Given the description of an element on the screen output the (x, y) to click on. 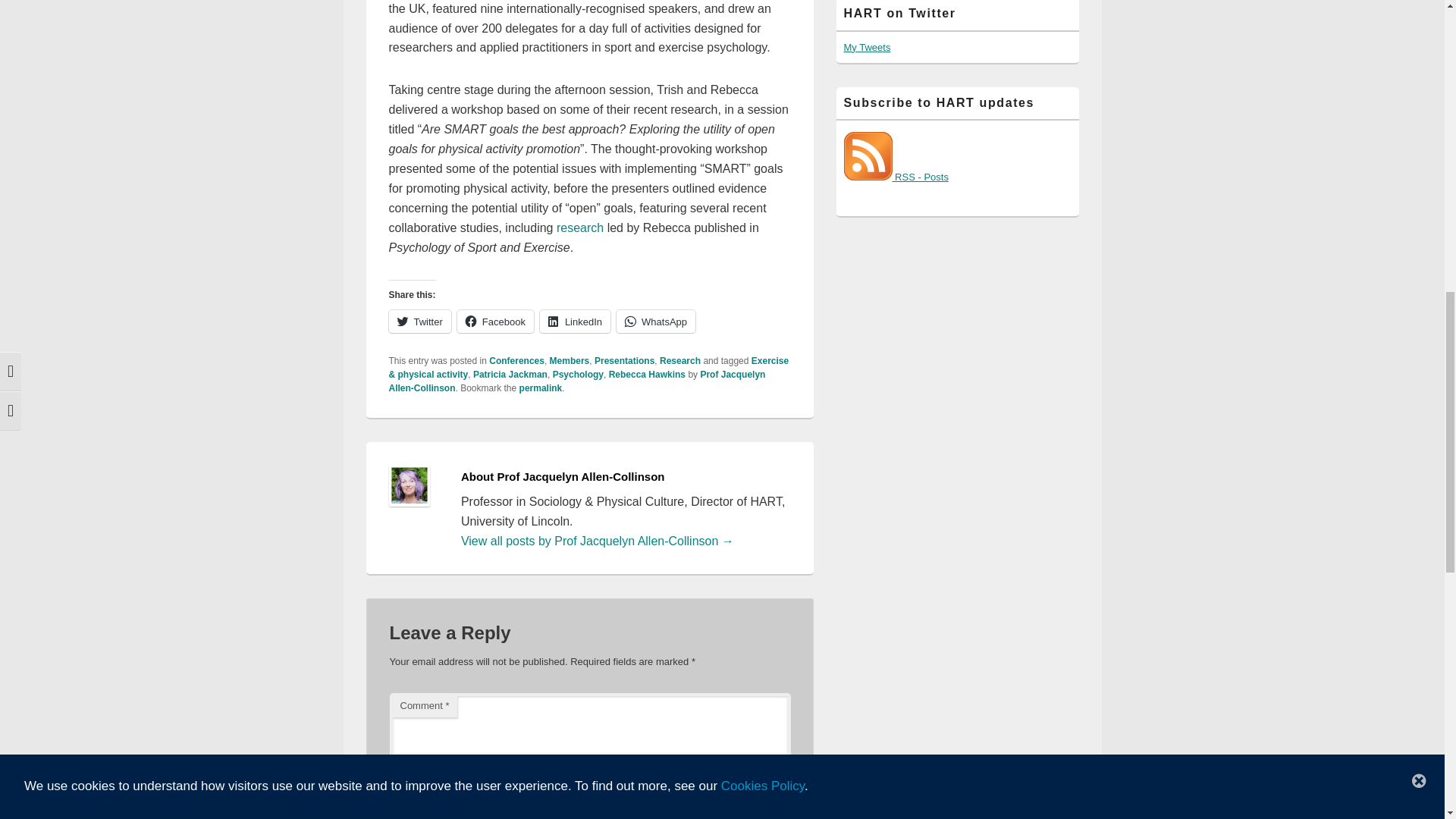
Rebecca Hawkins (646, 374)
research (580, 227)
Patricia Jackman (510, 374)
Facebook (495, 321)
Research (679, 360)
Conferences (516, 360)
Click to share on Facebook (495, 321)
Click to share on WhatsApp (655, 321)
WhatsApp (655, 321)
Subscribe to posts (895, 176)
